Given the description of an element on the screen output the (x, y) to click on. 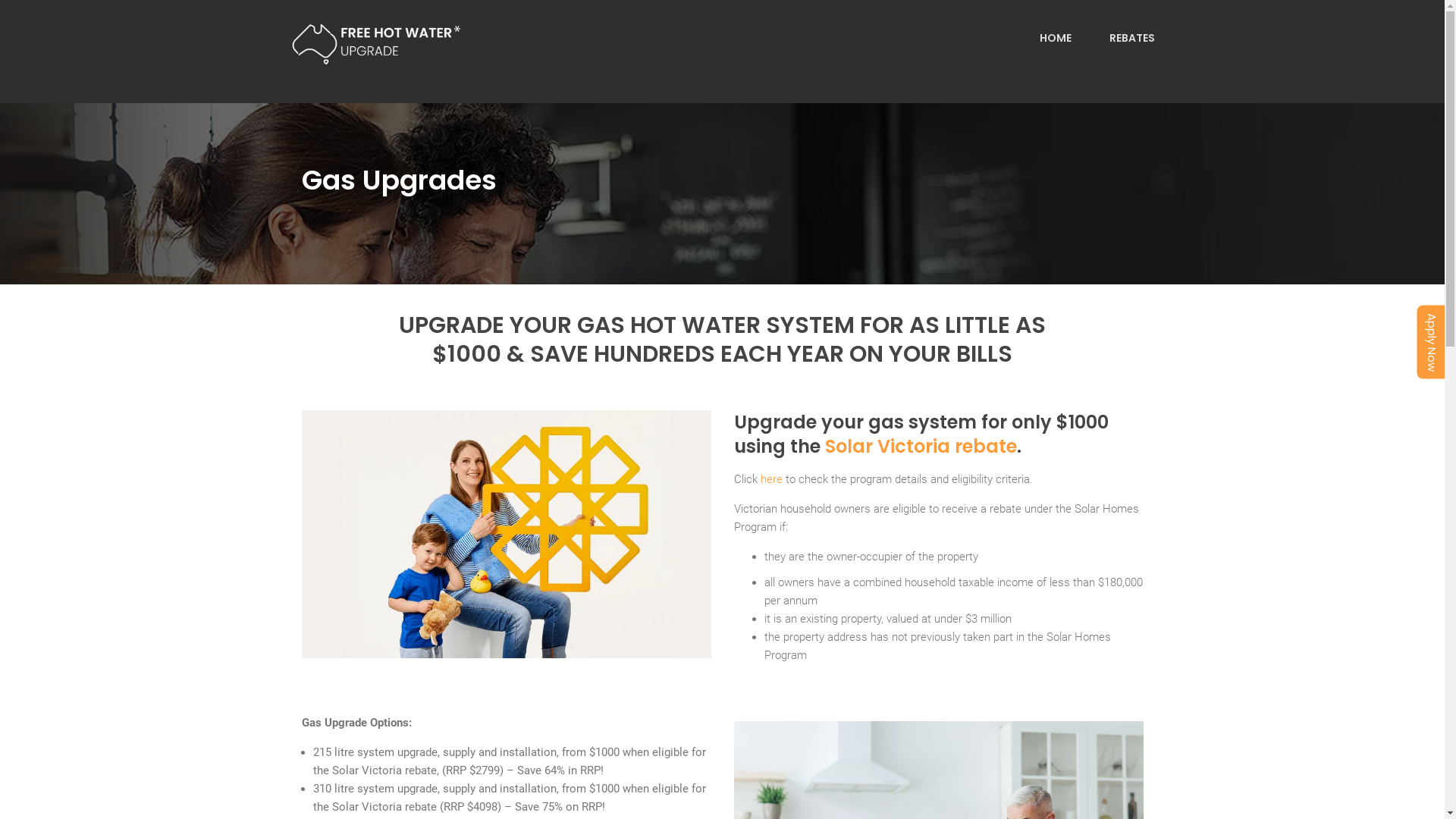
REBATES Element type: text (1131, 37)
Solar Victoria rebate Element type: text (920, 445)
HOME Element type: text (1054, 37)
here Element type: text (770, 479)
